Given the description of an element on the screen output the (x, y) to click on. 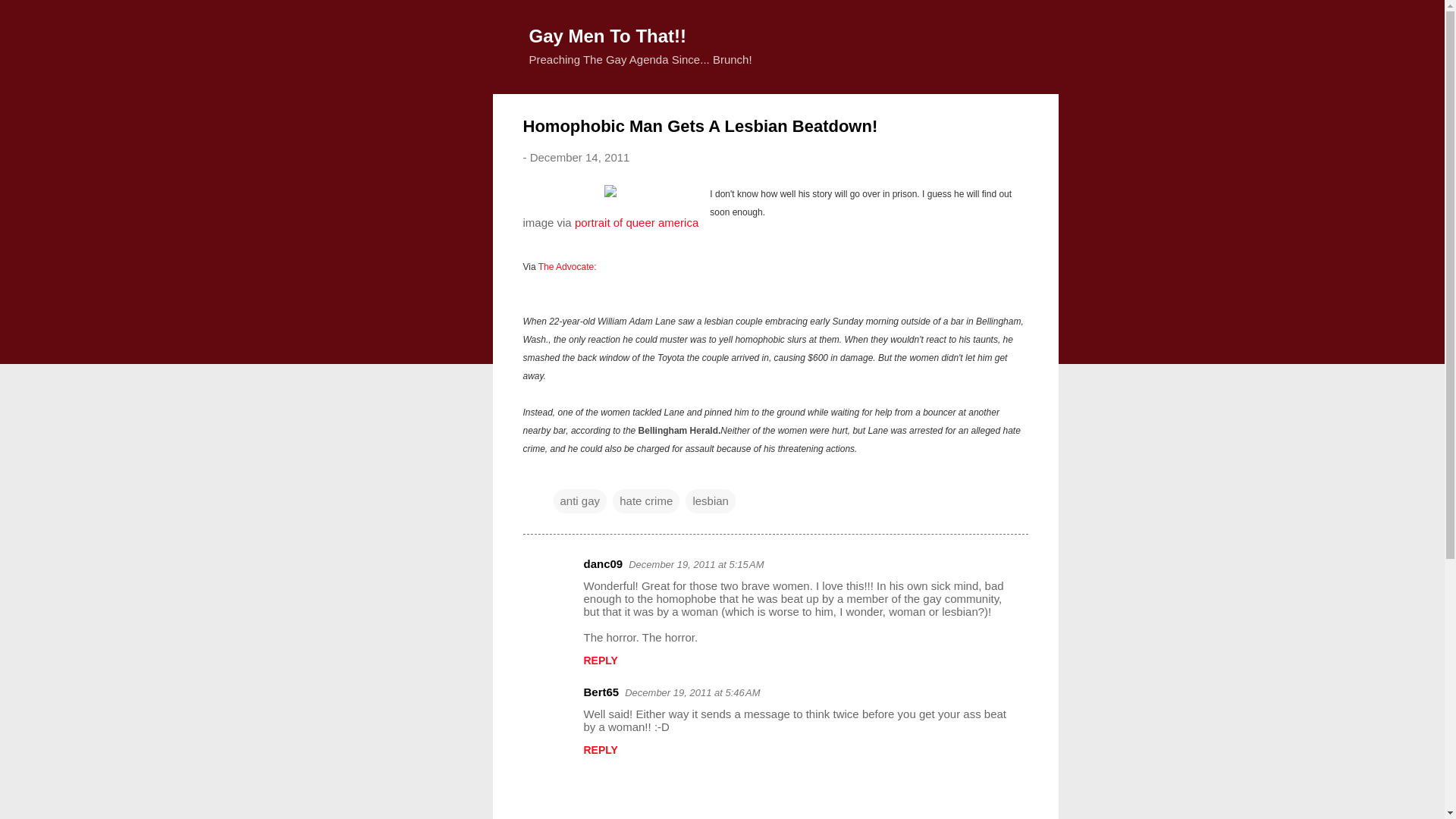
anti gay (580, 500)
portrait of queer america (636, 221)
danc09 (603, 563)
December 14, 2011 (579, 156)
Bellingham Herald. (679, 429)
Bellingham Herald. (679, 429)
REPLY (600, 660)
The Advocate: (567, 266)
Search (29, 18)
permanent link (579, 156)
